Given the description of an element on the screen output the (x, y) to click on. 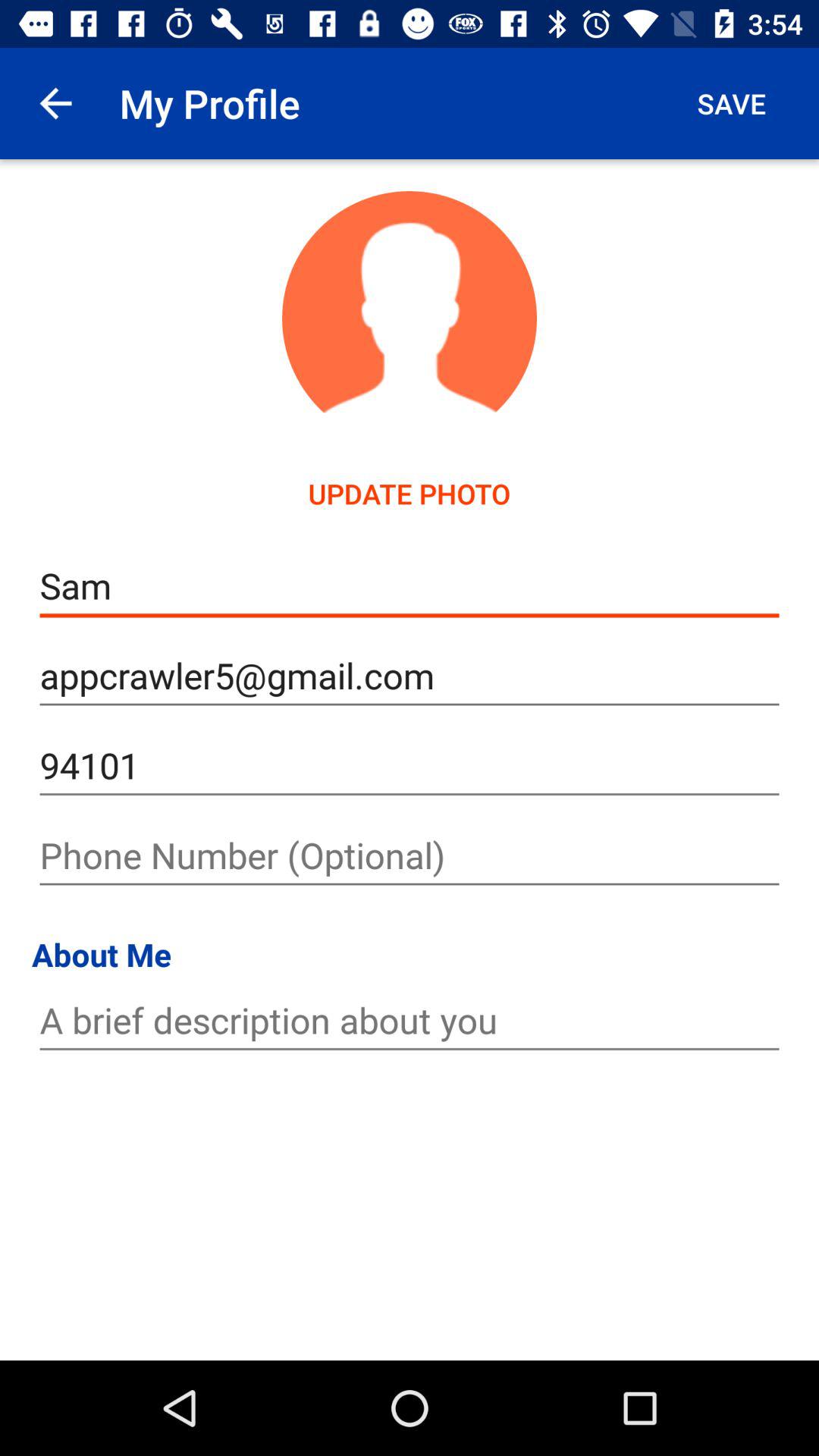
choose the icon next to my profile item (731, 103)
